Given the description of an element on the screen output the (x, y) to click on. 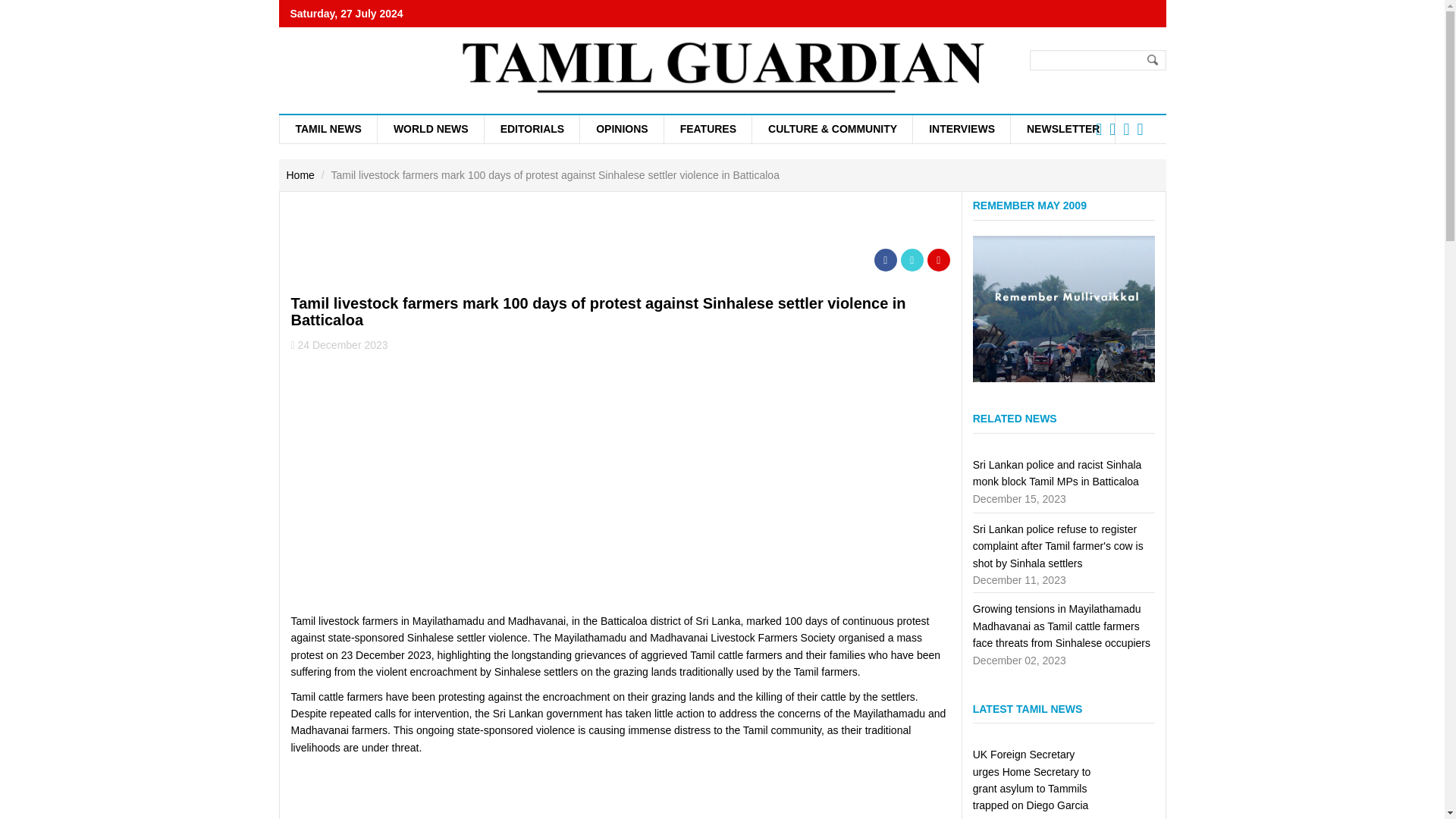
NEWSLETTER (1062, 128)
WORLD NEWS (430, 128)
TAMIL NEWS (327, 128)
OPINIONS (620, 128)
Email (938, 259)
YouTube video player (503, 480)
EDITORIALS (531, 128)
Home (300, 174)
Search (1151, 60)
YouTube video player (503, 791)
FEATURES (707, 128)
Home (722, 64)
Enter the terms you wish to search for. (1097, 59)
